Given the description of an element on the screen output the (x, y) to click on. 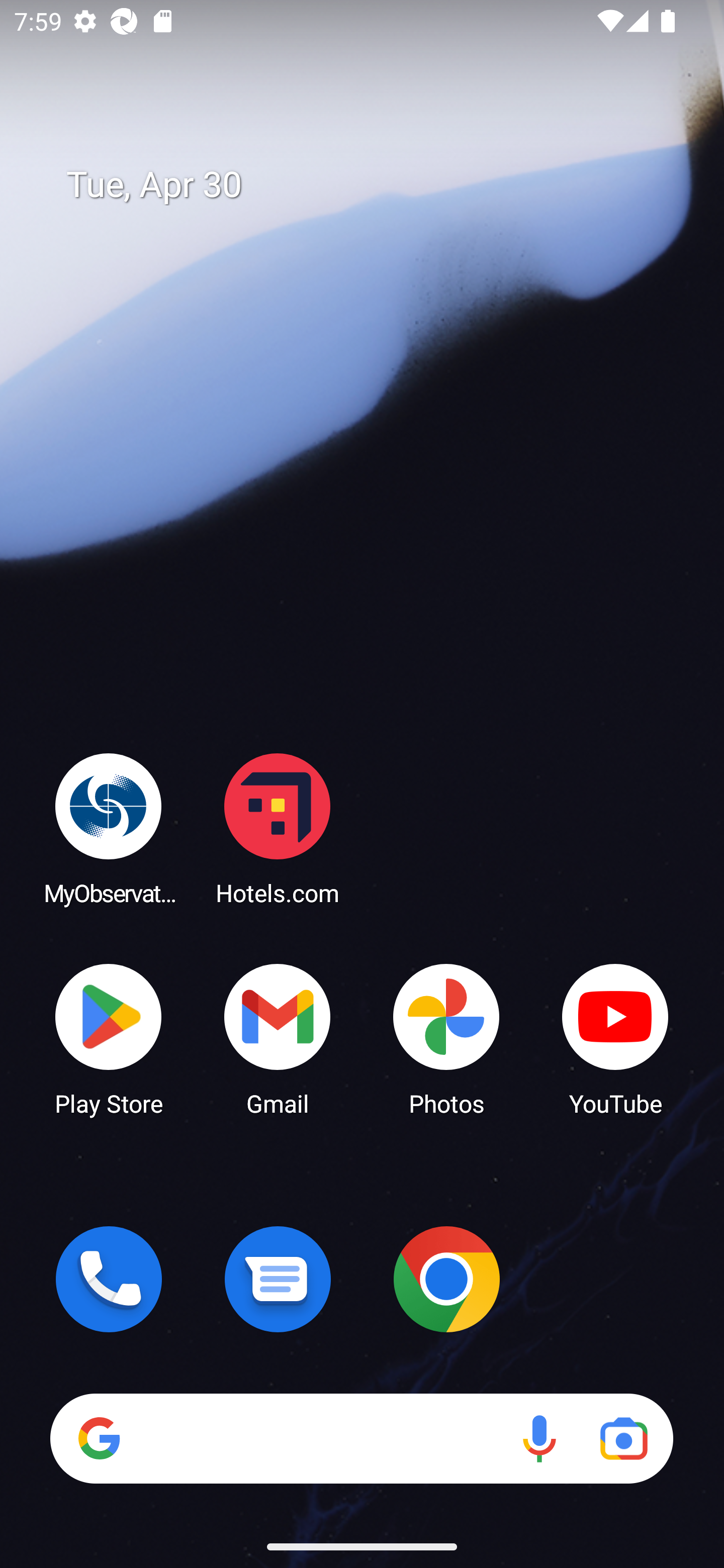
Tue, Apr 30 (375, 184)
MyObservatory (108, 828)
Hotels.com (277, 828)
Play Store (108, 1038)
Gmail (277, 1038)
Photos (445, 1038)
YouTube (615, 1038)
Phone (108, 1279)
Messages (277, 1279)
Chrome (446, 1279)
Voice search (539, 1438)
Google Lens (623, 1438)
